Given the description of an element on the screen output the (x, y) to click on. 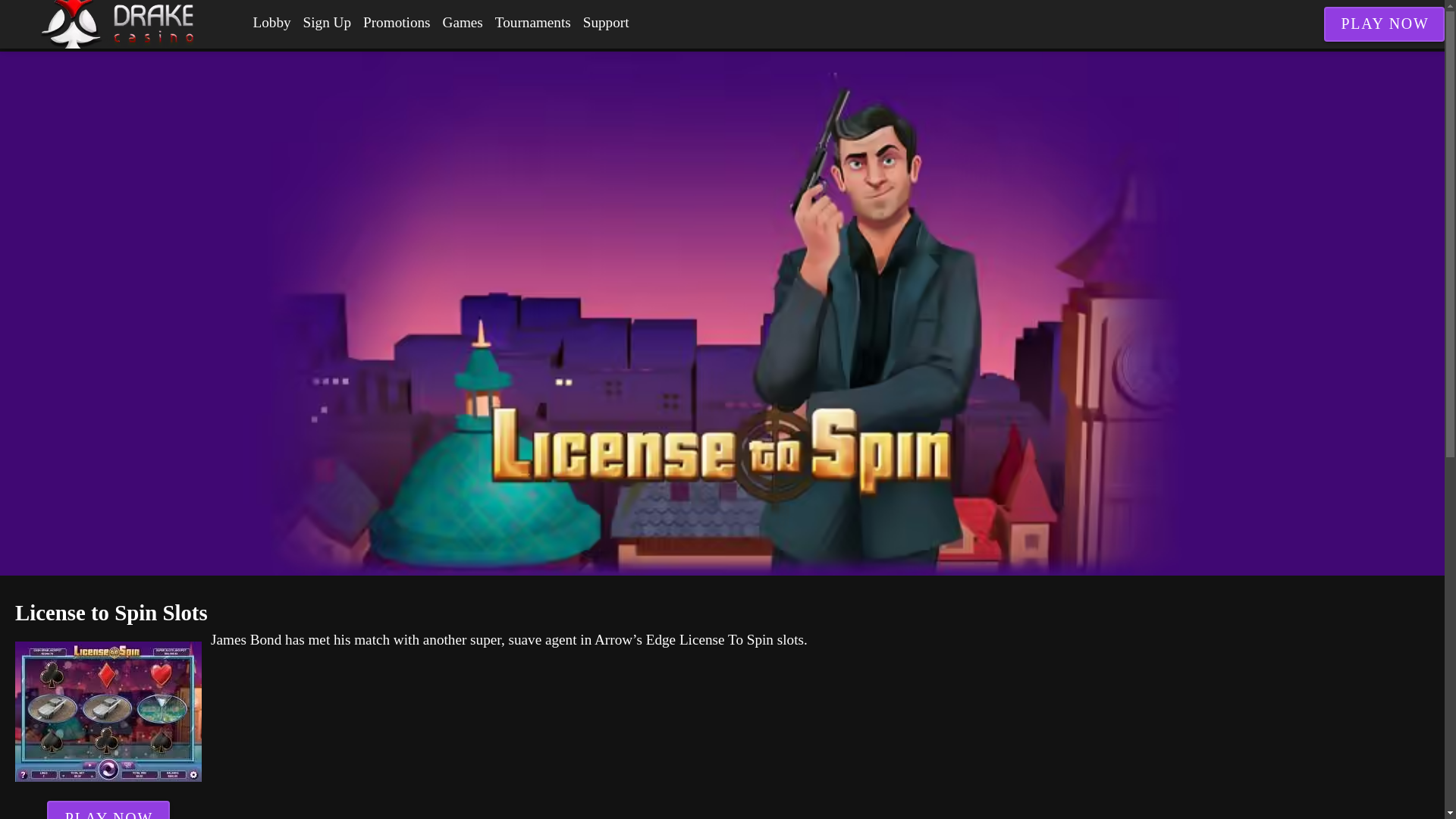
Games (462, 22)
Promotions (396, 22)
PLAY NOW (108, 809)
Tournaments (532, 22)
Sign Up (326, 22)
Lobby (272, 22)
Support (605, 22)
